Given the description of an element on the screen output the (x, y) to click on. 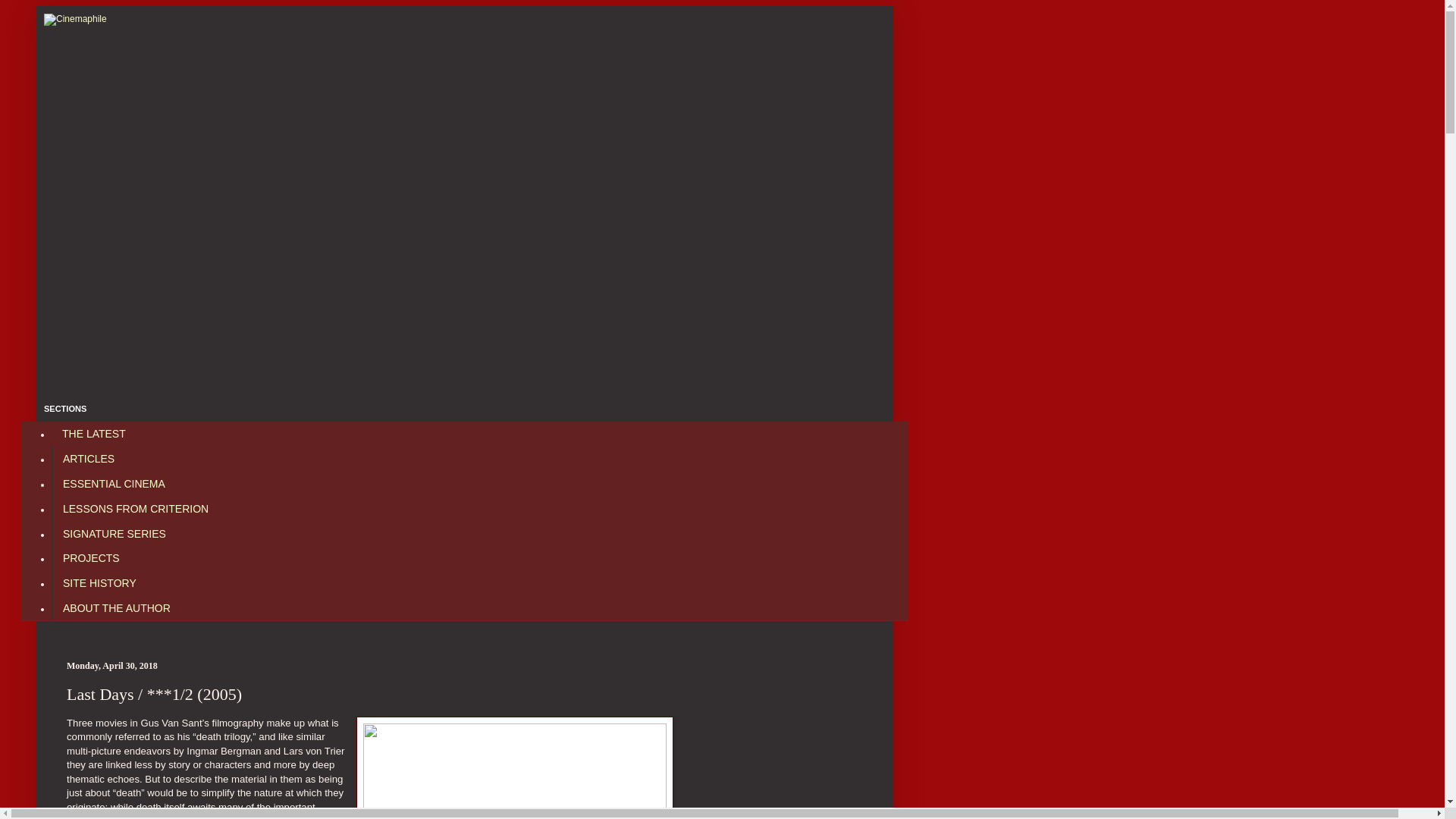
SIGNATURE SERIES (113, 533)
PROJECTS (90, 558)
SITE HISTORY (98, 583)
LESSONS FROM CRITERION (134, 508)
ESSENTIAL CINEMA (113, 483)
ARTICLES (87, 458)
THE LATEST (93, 433)
ABOUT THE AUTHOR (115, 607)
